Given the description of an element on the screen output the (x, y) to click on. 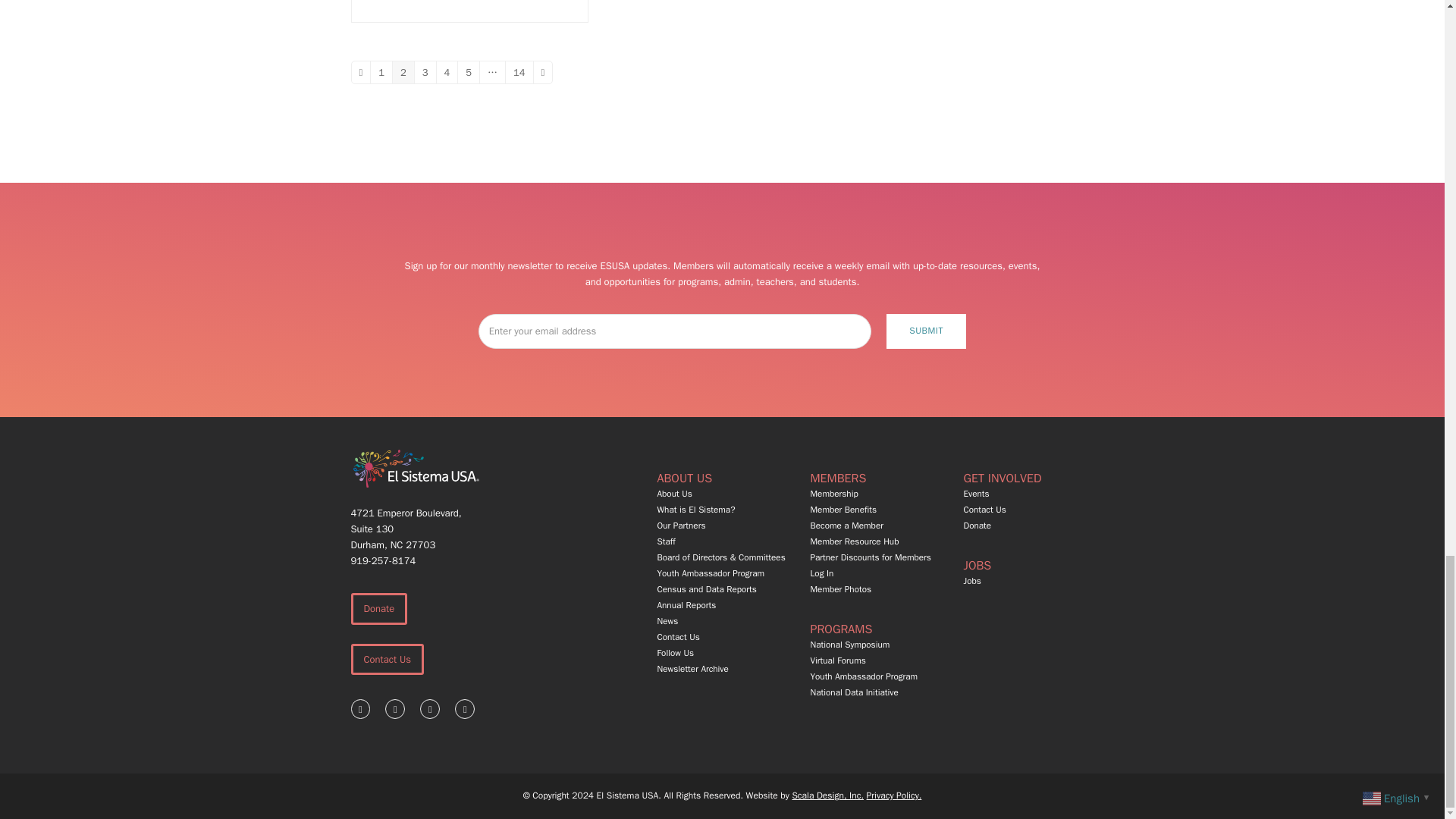
LinkedIn (429, 709)
Instagram (394, 709)
YouTube (464, 709)
Facebook (359, 709)
